Given the description of an element on the screen output the (x, y) to click on. 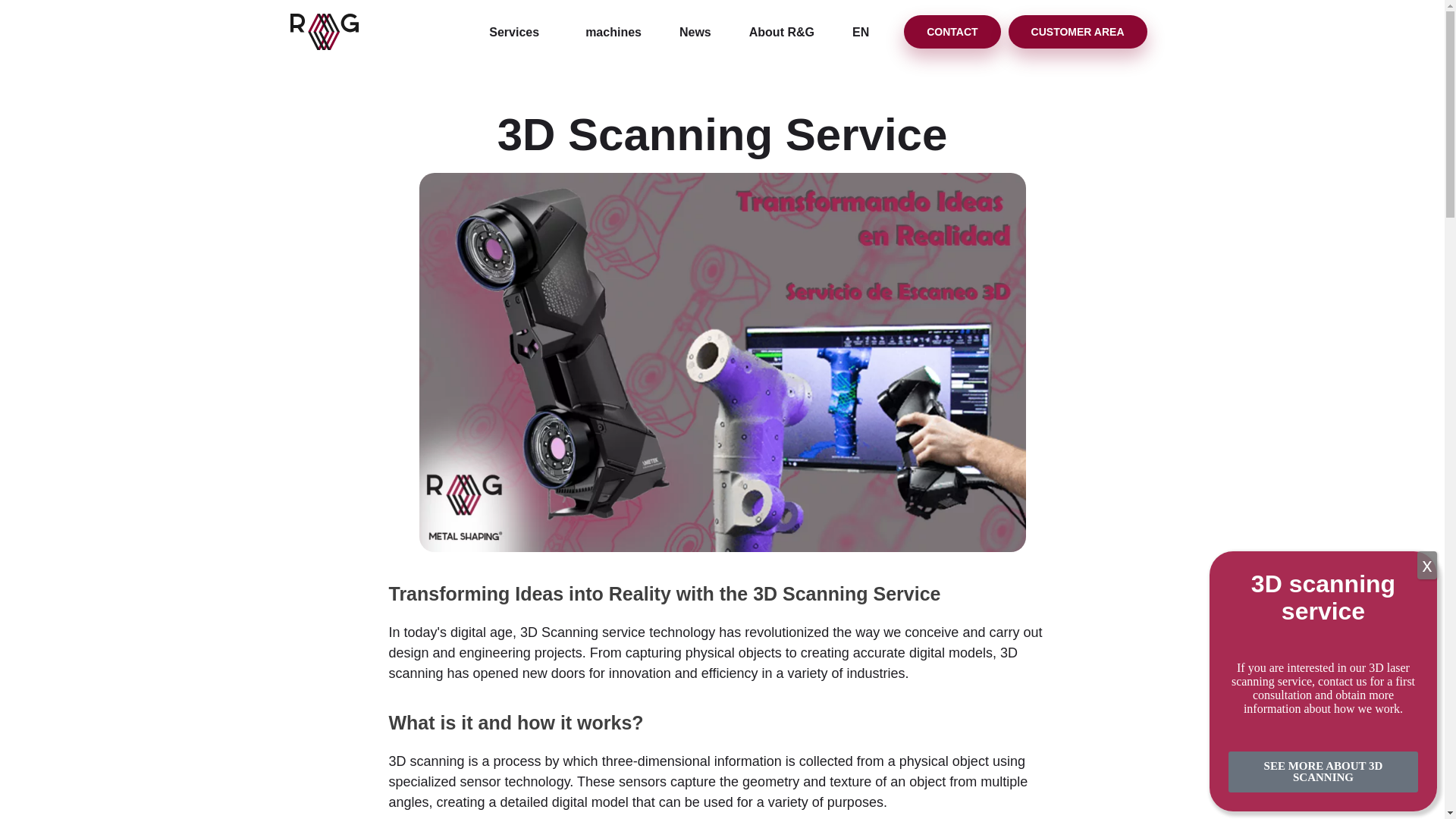
machines (613, 31)
News (695, 31)
Services (518, 31)
